Given the description of an element on the screen output the (x, y) to click on. 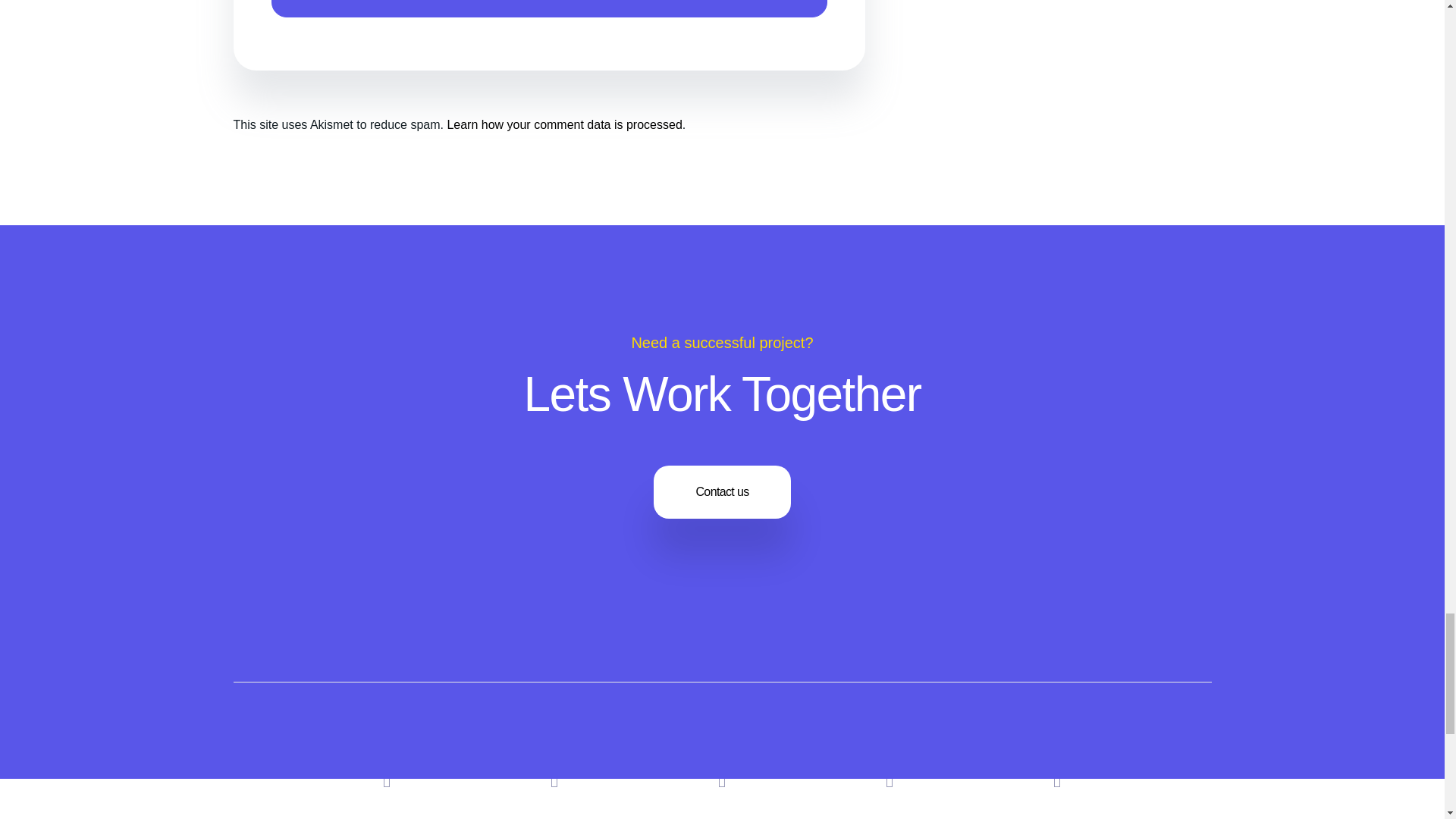
Twitter (890, 779)
Linkedin-in (386, 779)
Youtube (722, 779)
Post Comment (548, 8)
Facebook-f (1057, 779)
Instagram (554, 779)
